Given the description of an element on the screen output the (x, y) to click on. 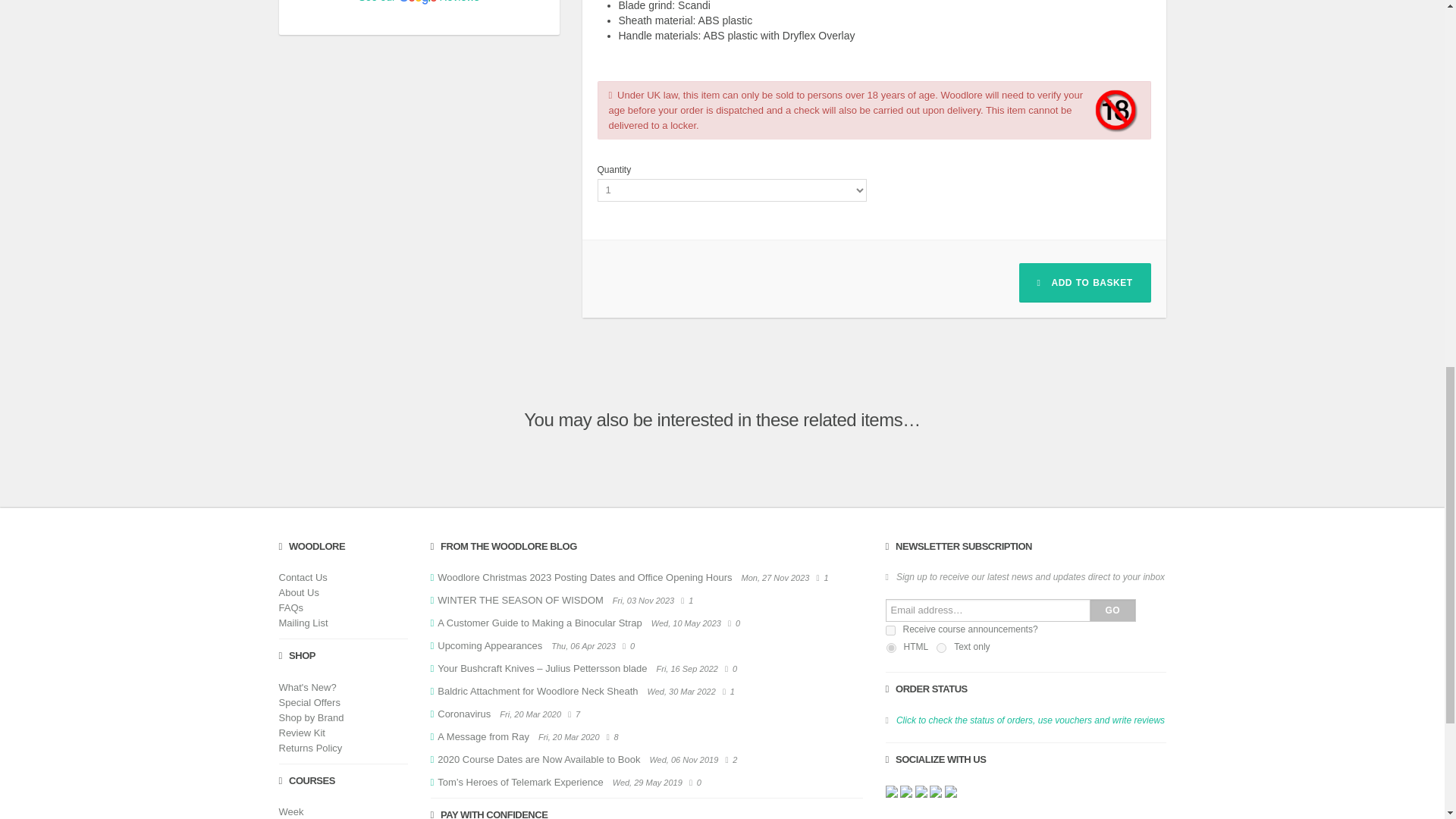
text (941, 647)
1 (890, 630)
html (890, 647)
